Given the description of an element on the screen output the (x, y) to click on. 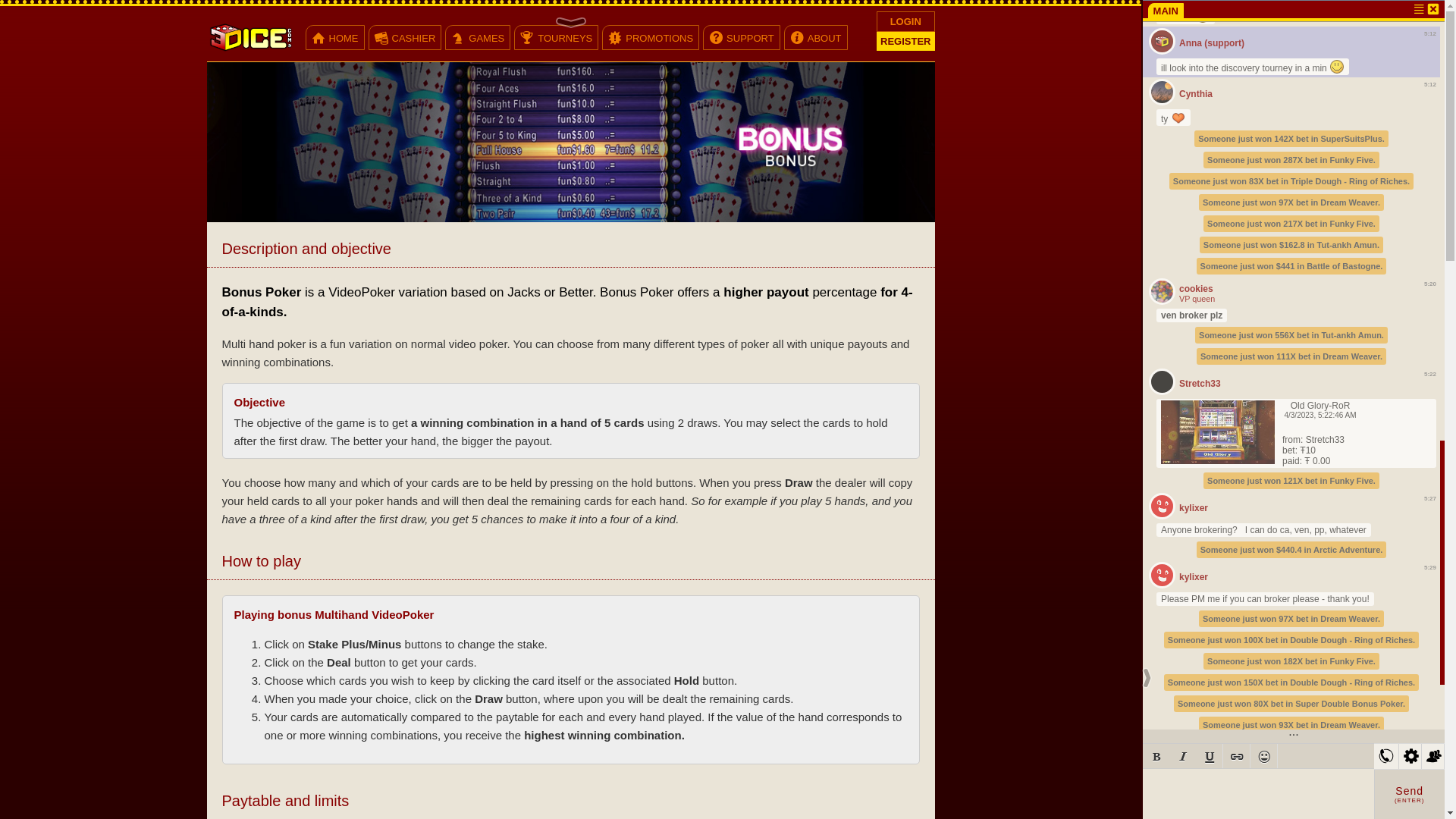
Support Element type: hover (715, 39)
Games Element type: hover (457, 39)
About Element type: hover (796, 39)
Cashier Element type: hover (381, 39)
Tourneys Element type: hover (526, 39)
Promotions Element type: hover (614, 39)
Home Element type: hover (317, 39)
